Given the description of an element on the screen output the (x, y) to click on. 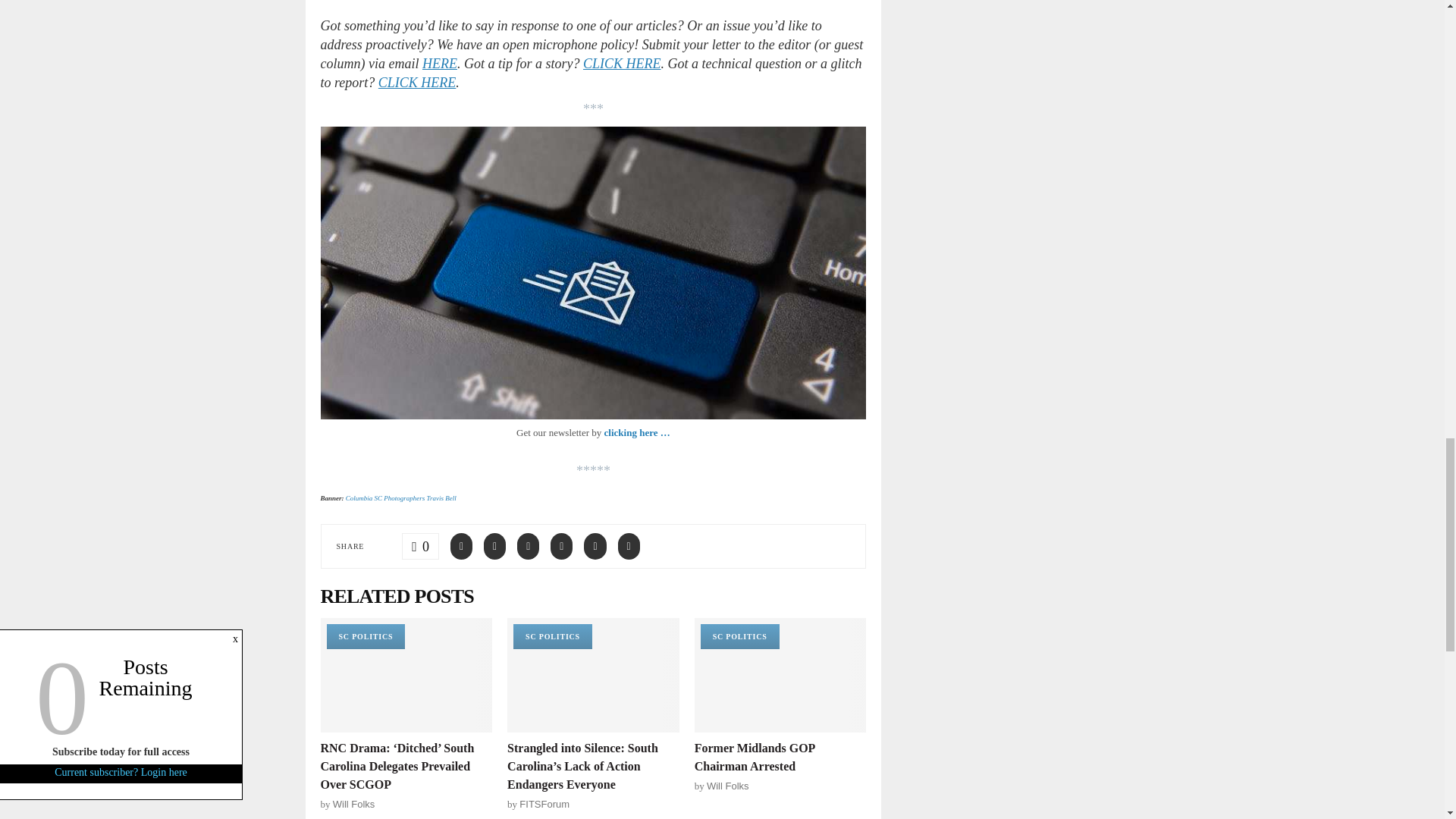
Like (420, 546)
